Given the description of an element on the screen output the (x, y) to click on. 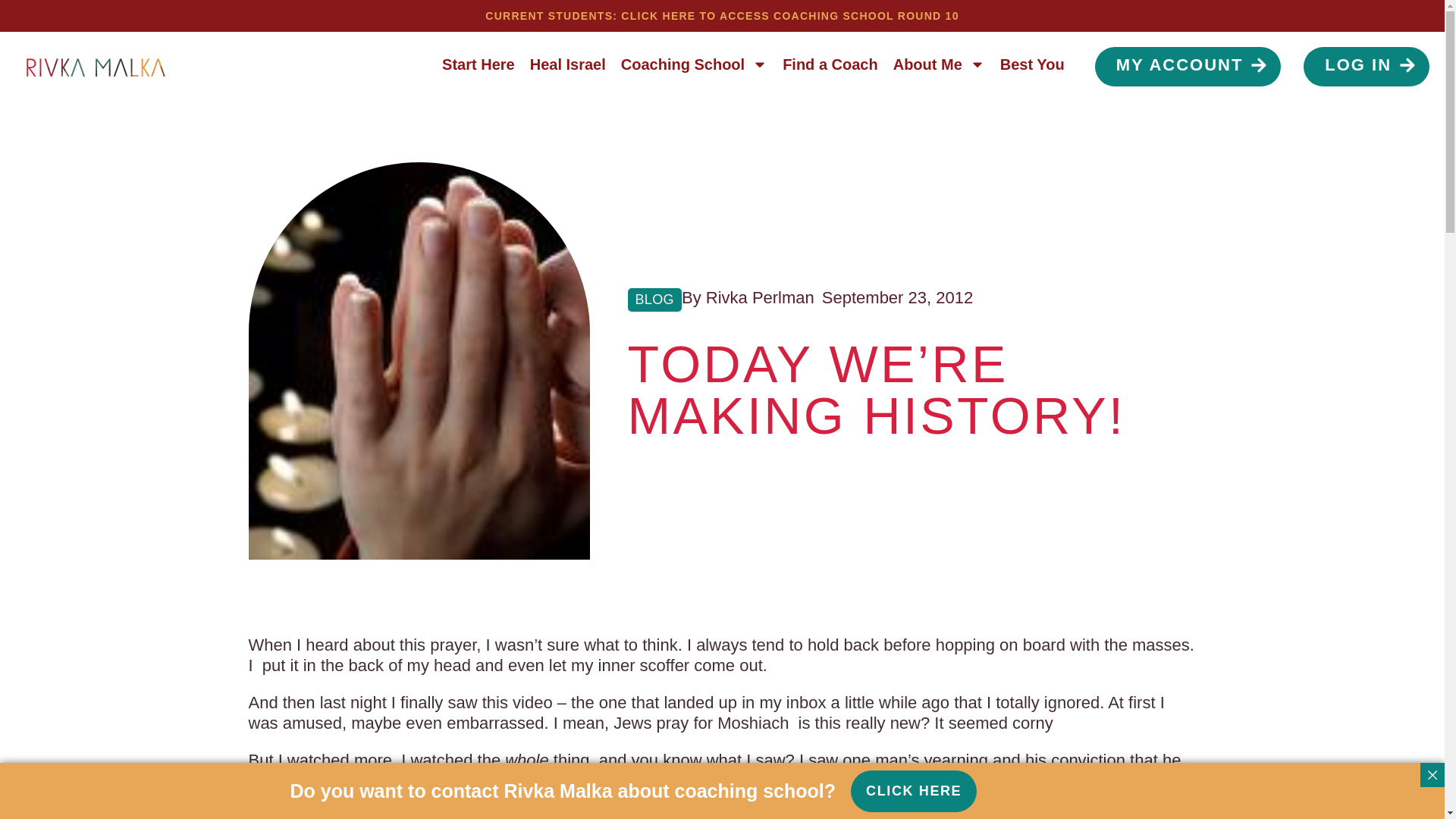
MY ACCOUNT (1187, 66)
Heal Israel (567, 63)
Start Here (477, 63)
BLOG (654, 299)
Coaching School (693, 63)
About Me (938, 63)
CLICK HERE (913, 791)
Find a Coach (829, 63)
LOG IN (1366, 66)
Best You (1031, 63)
